Given the description of an element on the screen output the (x, y) to click on. 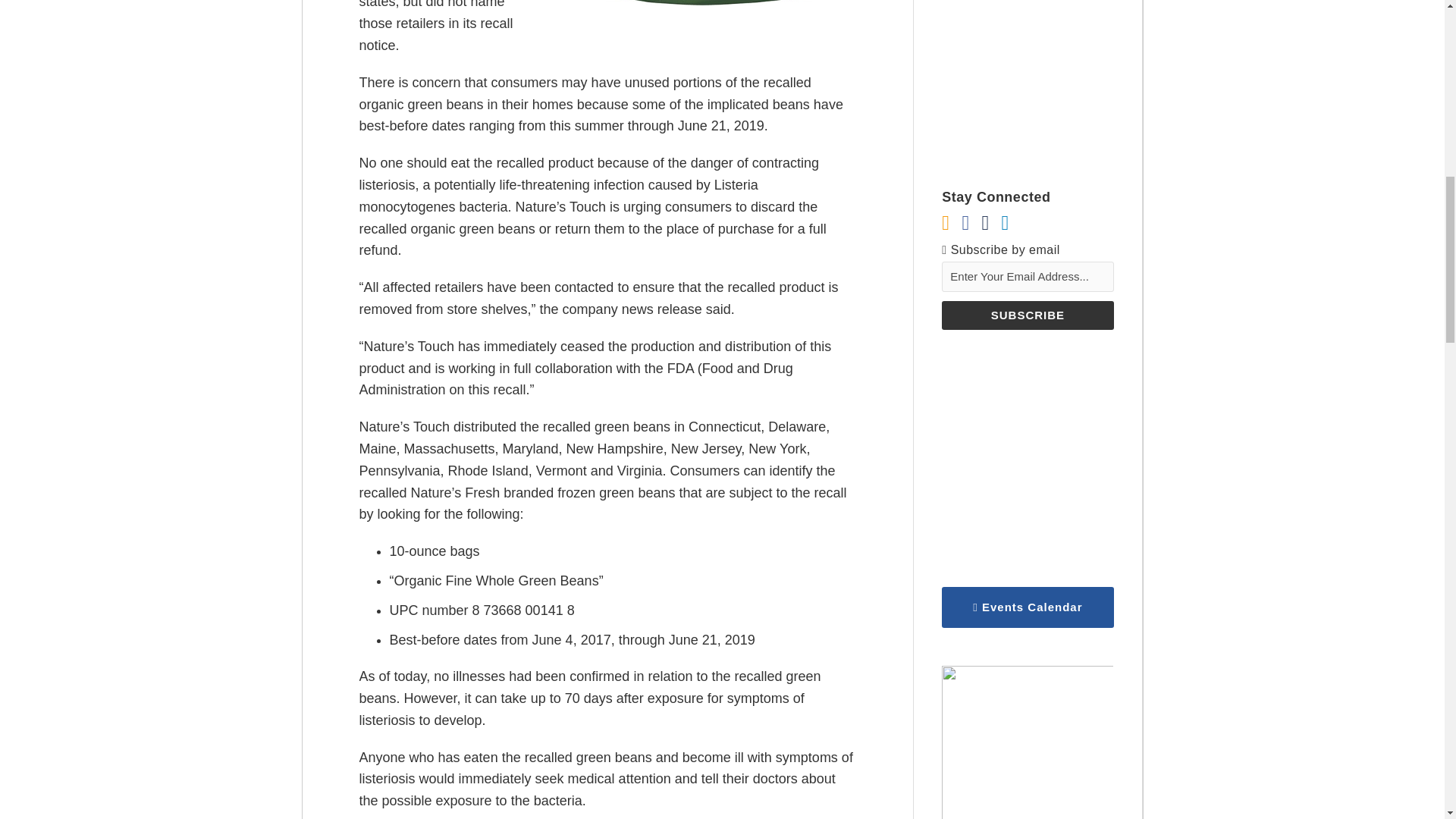
Subscribe (1027, 315)
